Given the description of an element on the screen output the (x, y) to click on. 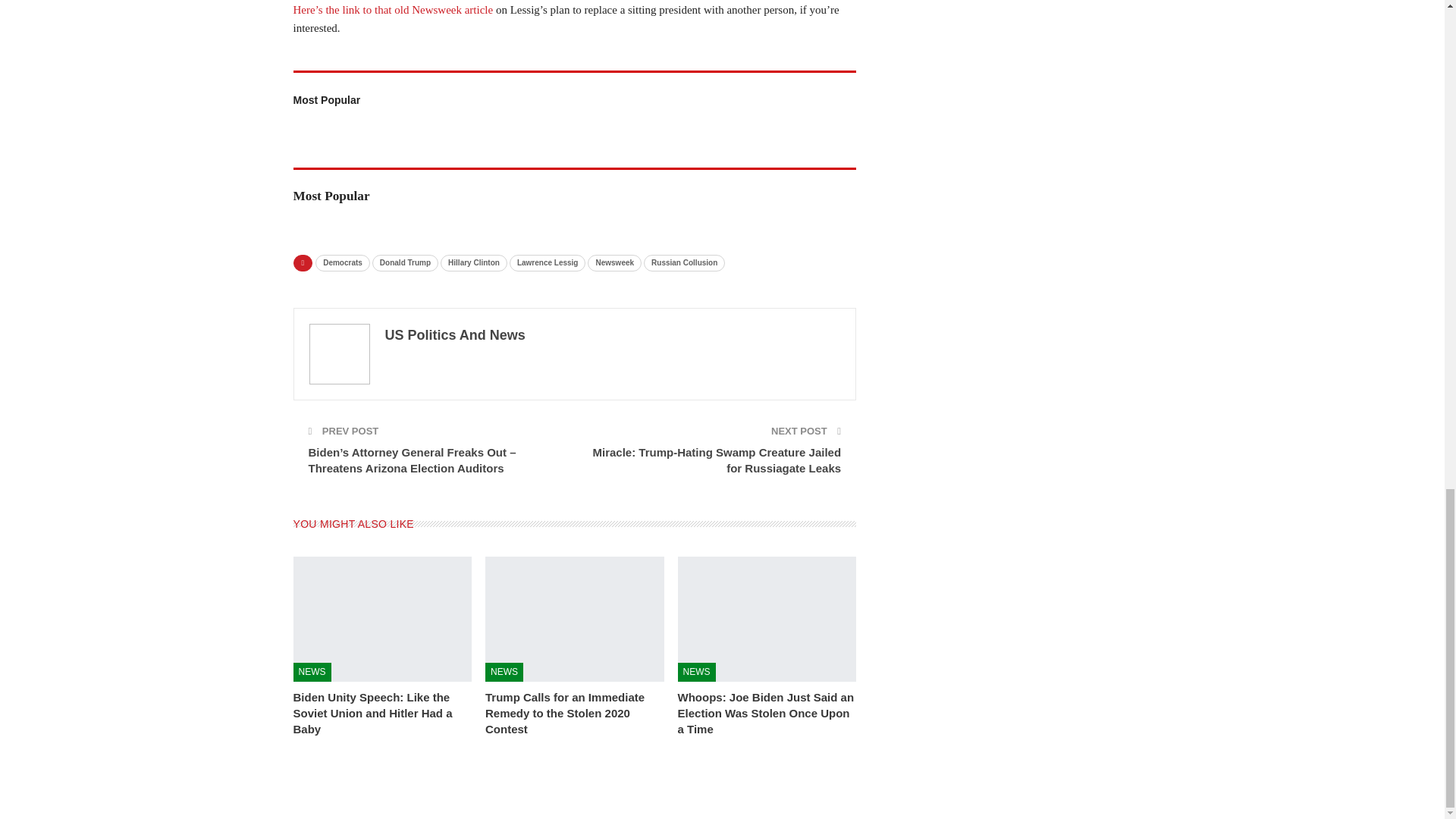
Hillary Clinton (473, 262)
Donald Trump (405, 262)
Democrats (342, 262)
Lawrence Lessig (547, 262)
